Given the description of an element on the screen output the (x, y) to click on. 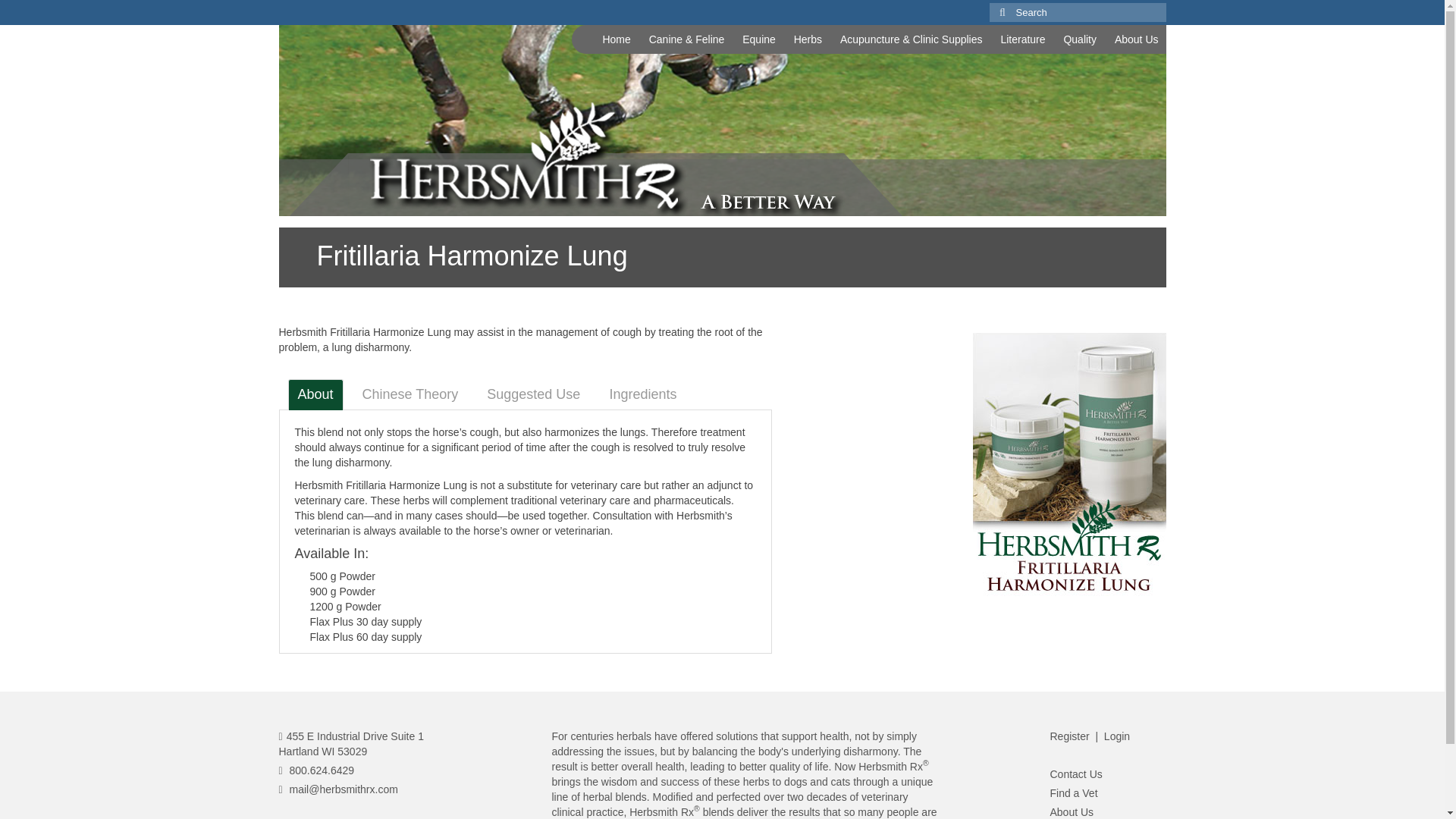
Home (615, 39)
